Given the description of an element on the screen output the (x, y) to click on. 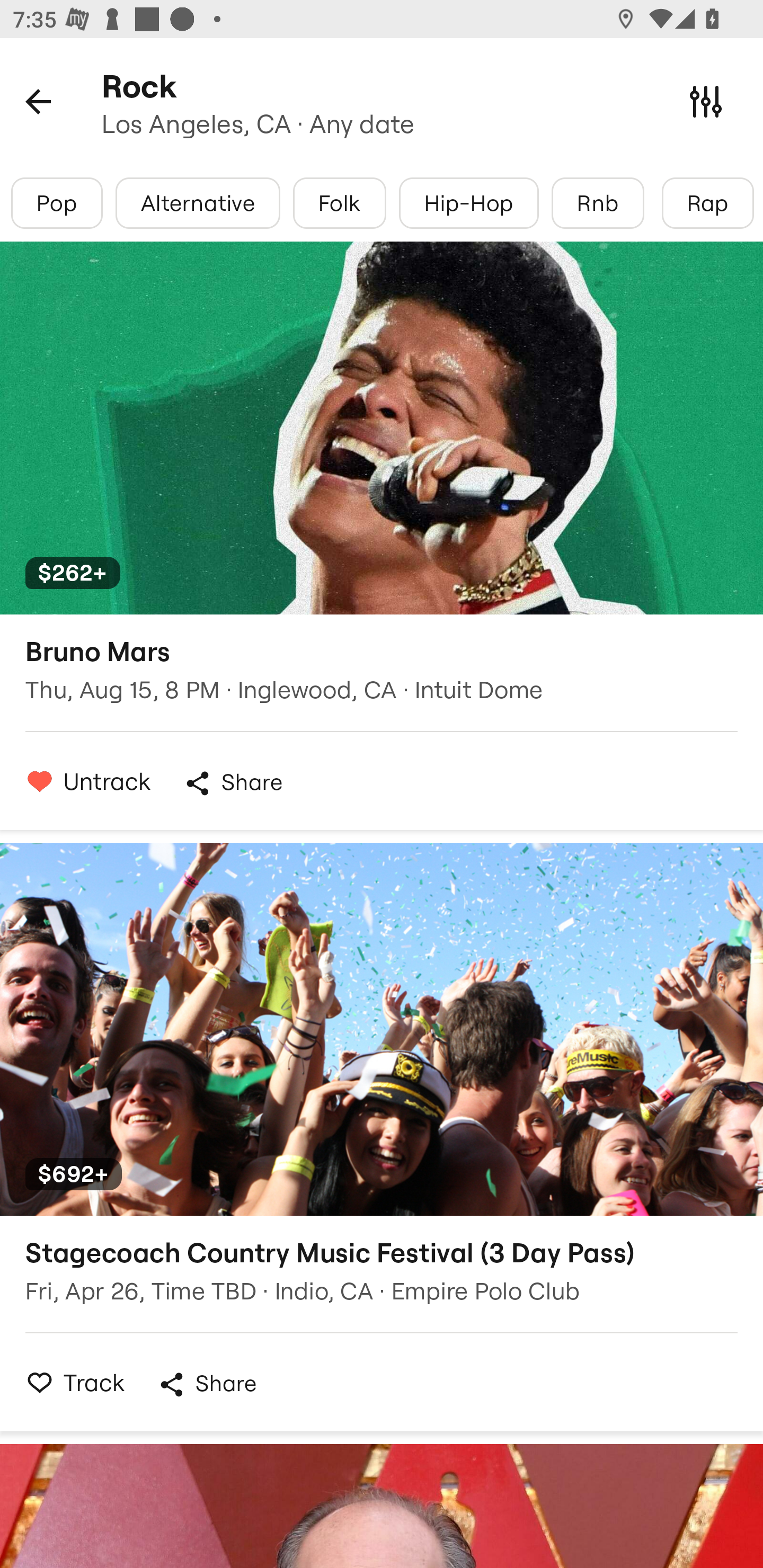
Back (38, 100)
Filters (705, 100)
Pop (57, 202)
Alternative (197, 202)
Folk (339, 202)
Hip-Hop (468, 202)
Rnb (597, 202)
Rap (707, 202)
Untrack (83, 780)
Share (233, 783)
Track (70, 1381)
Share (207, 1384)
